Given the description of an element on the screen output the (x, y) to click on. 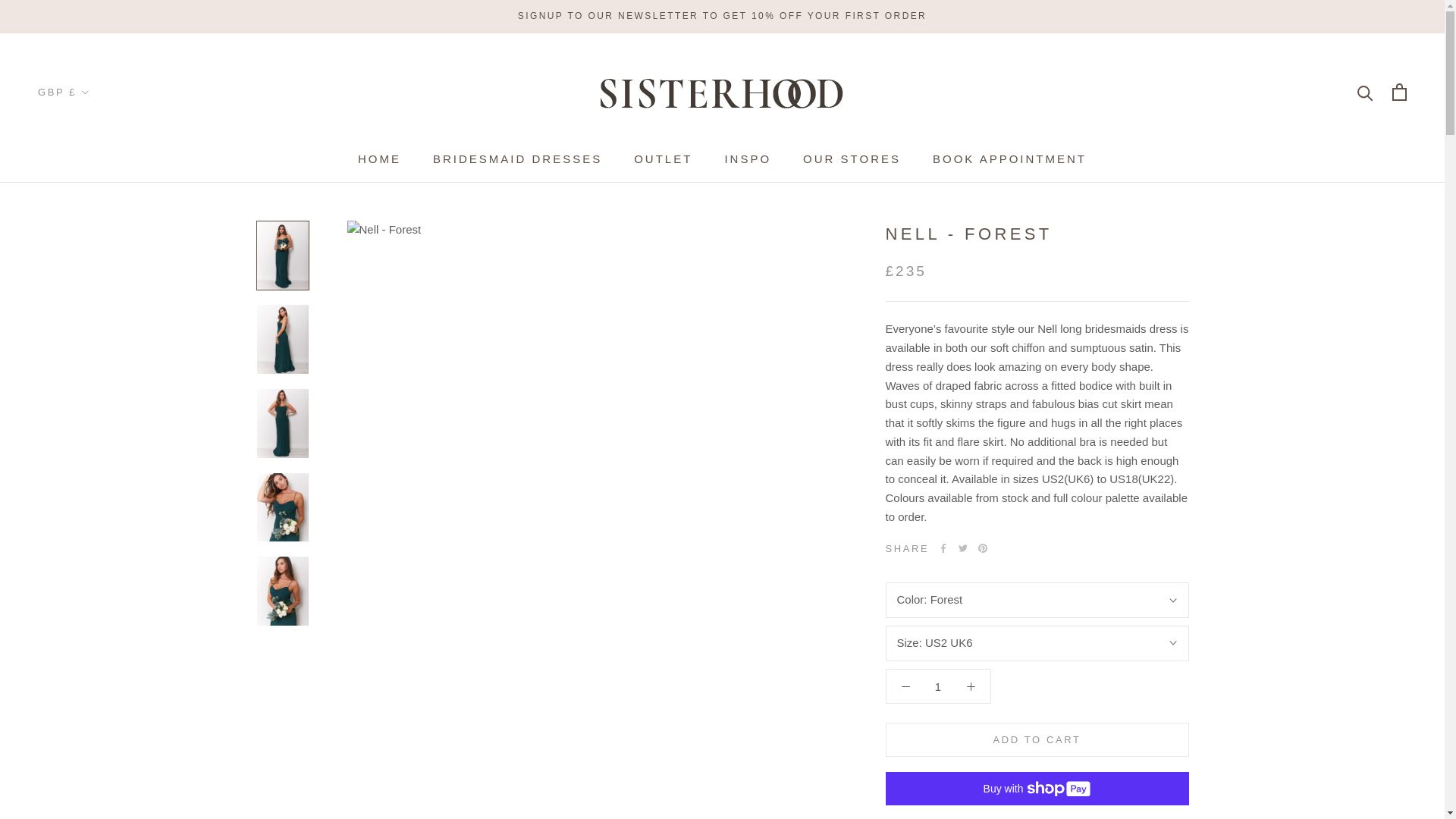
1 (938, 685)
